Given the description of an element on the screen output the (x, y) to click on. 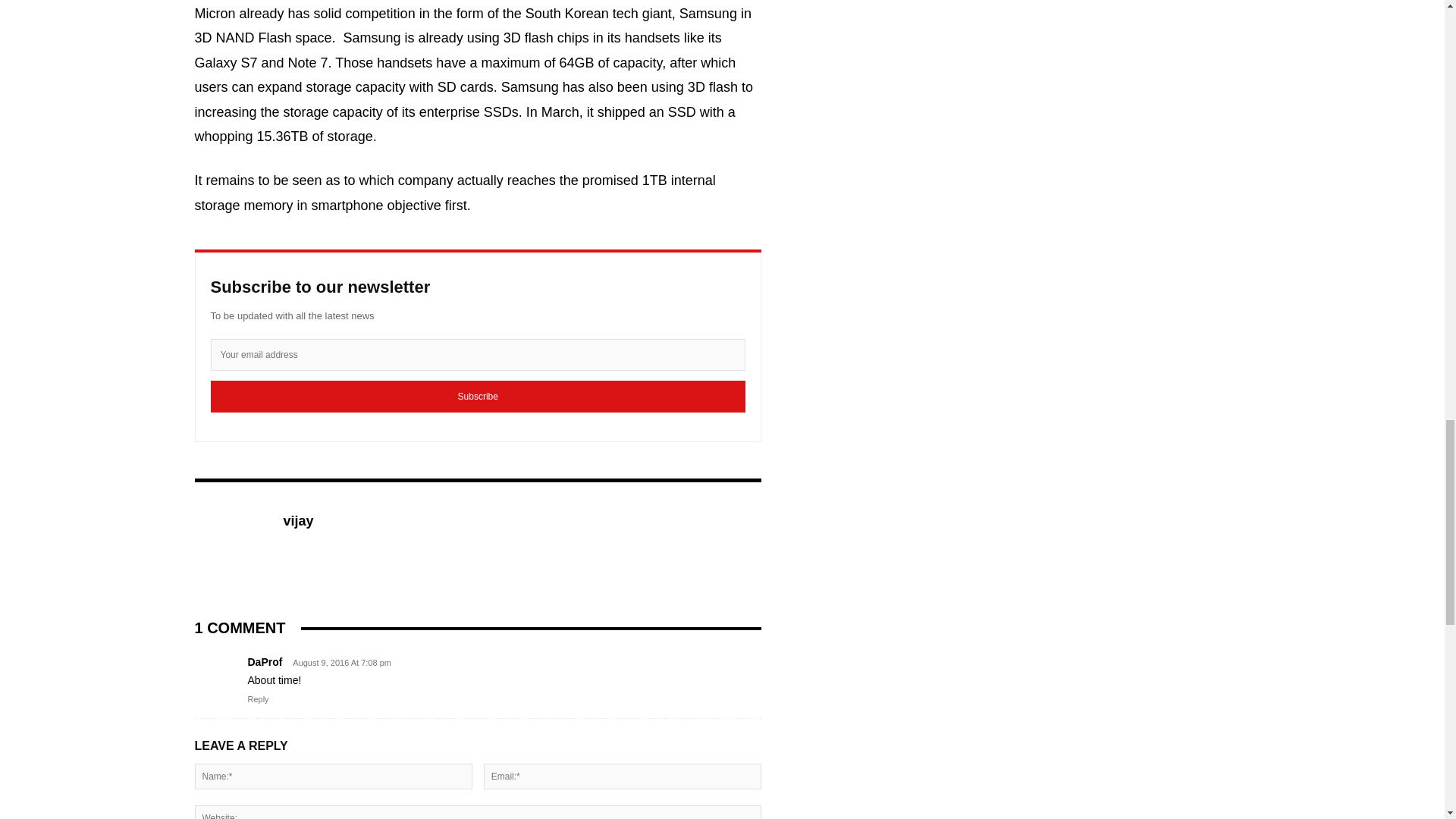
vijay (229, 543)
Subscribe (478, 396)
August 9, 2016 At 7:08 pm (338, 663)
Reply (257, 698)
vijay (298, 521)
